Given the description of an element on the screen output the (x, y) to click on. 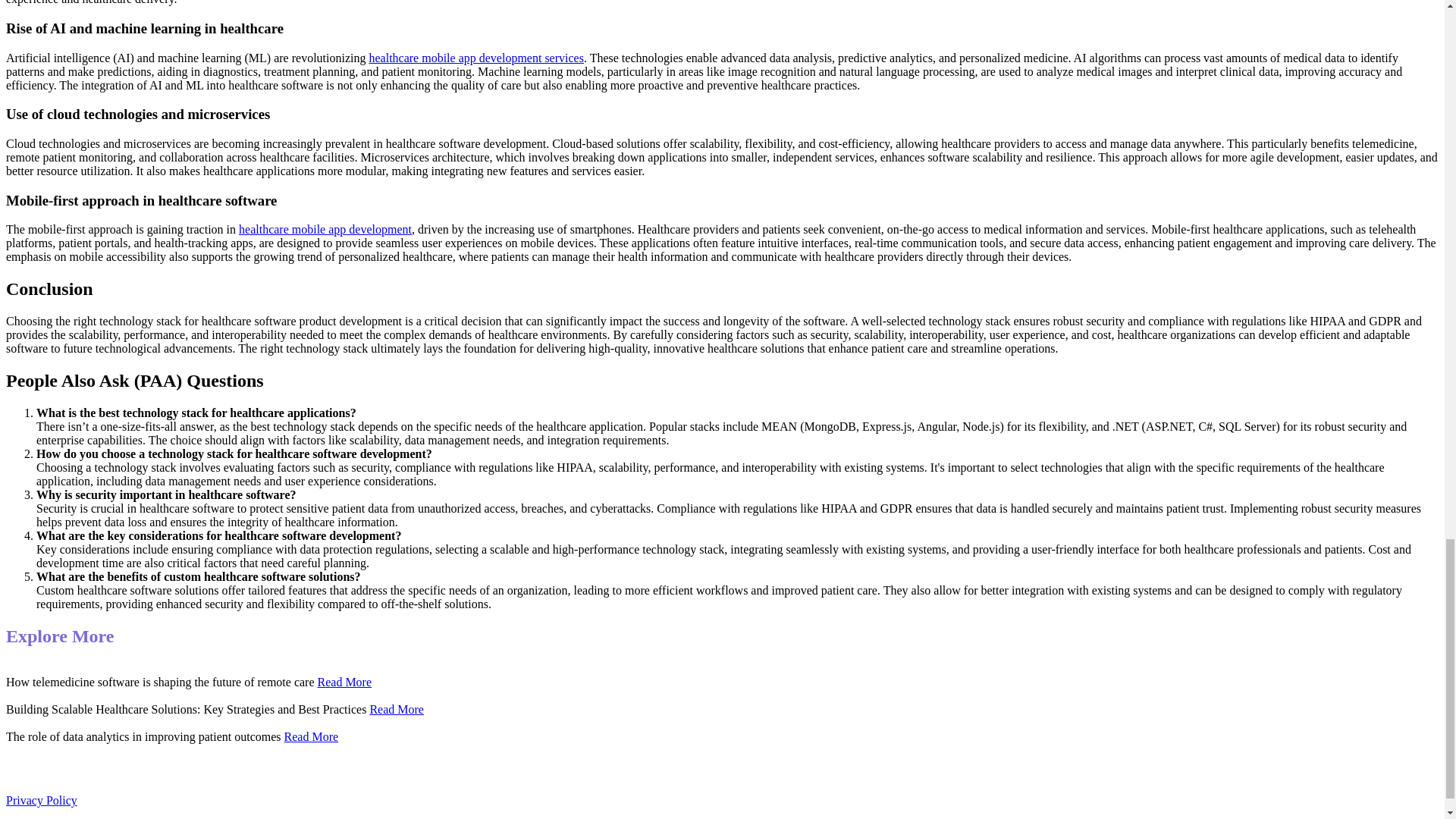
Read More (344, 681)
healthcare mobile app development services (475, 57)
Read More (311, 736)
healthcare mobile app development (325, 228)
Read More (396, 708)
